Given the description of an element on the screen output the (x, y) to click on. 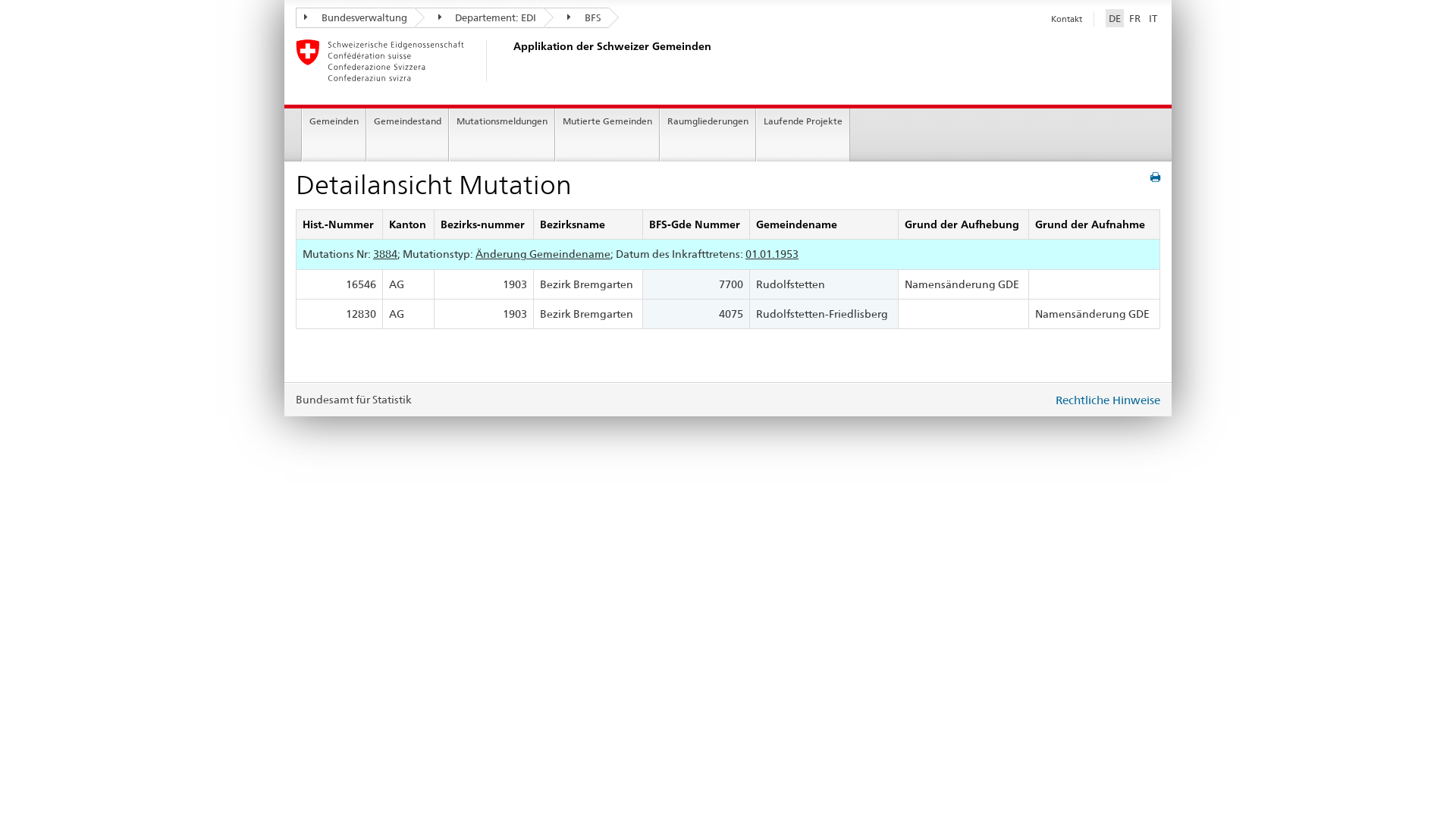
Departement: EDI Element type: text (478, 17)
print Element type: hover (1155, 177)
Applikation der Schweizer Gemeinden Element type: text (511, 60)
Kontakt Element type: text (1066, 18)
Laufende Projekte Element type: text (802, 134)
Gemeinden Element type: text (333, 134)
IT Element type: text (1152, 18)
Mutierte Gemeinden Element type: text (606, 134)
Bundesverwaltung Element type: text (354, 17)
FR Element type: text (1134, 18)
Mutationsmeldungen Element type: text (501, 134)
BFS Element type: text (575, 17)
Rechtliche Hinweise Element type: text (1107, 399)
Raumgliederungen Element type: text (707, 134)
Gemeindestand Element type: text (407, 134)
DE Element type: text (1114, 18)
